Given the description of an element on the screen output the (x, y) to click on. 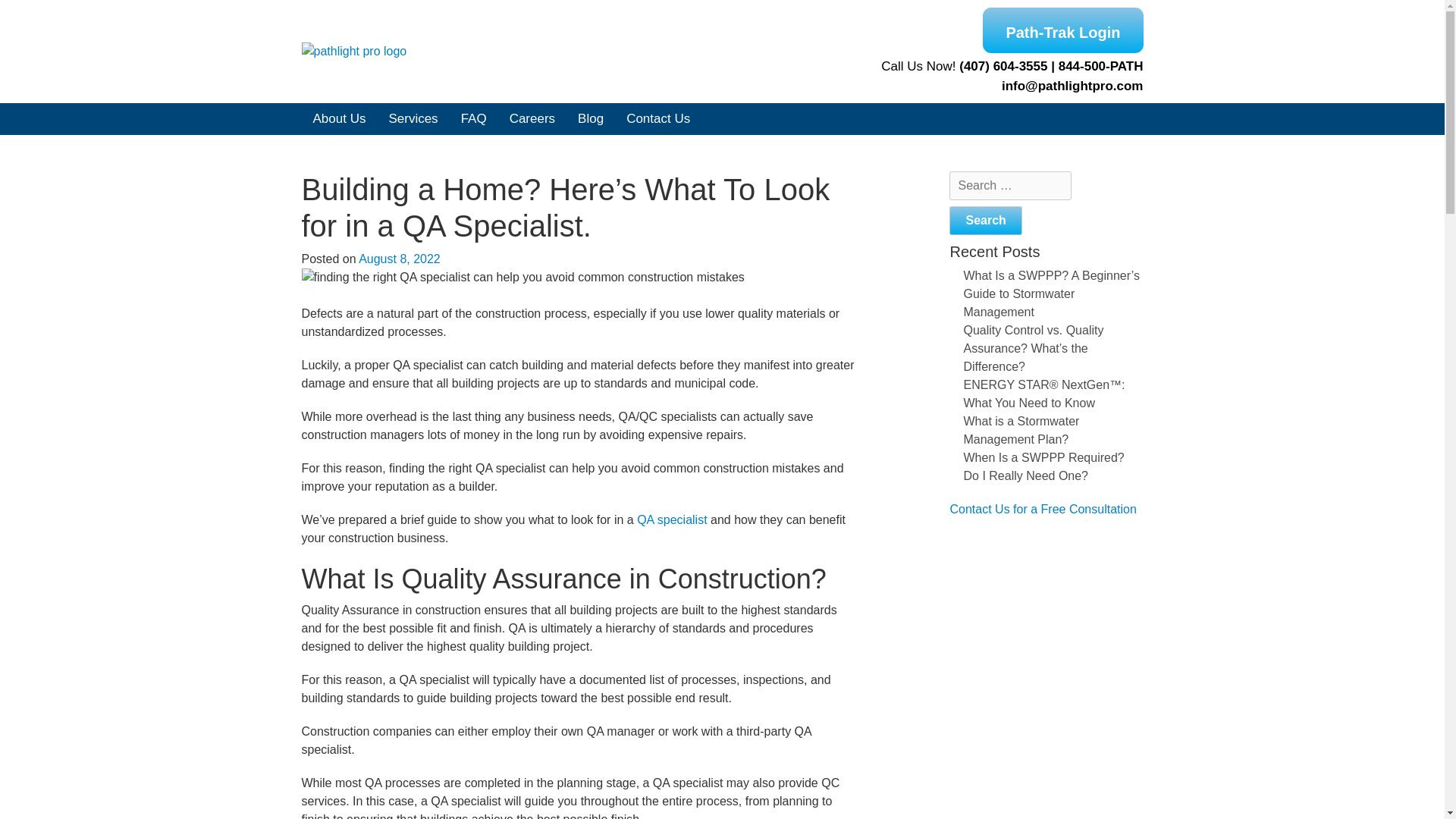
Careers (531, 119)
Search (985, 220)
Contact Us (657, 119)
What is a Stormwater Management Plan? (1020, 429)
Contact Us for a Free Consultation (1042, 508)
When Is a SWPPP Required? Do I Really Need One? (1043, 465)
Blog (590, 119)
Search (985, 220)
844-500-PATH (1100, 66)
FAQ (473, 119)
Search (985, 220)
Path-Trak Login (1062, 30)
QA specialist (671, 519)
About Us (339, 119)
August 8, 2022 (399, 257)
